Given the description of an element on the screen output the (x, y) to click on. 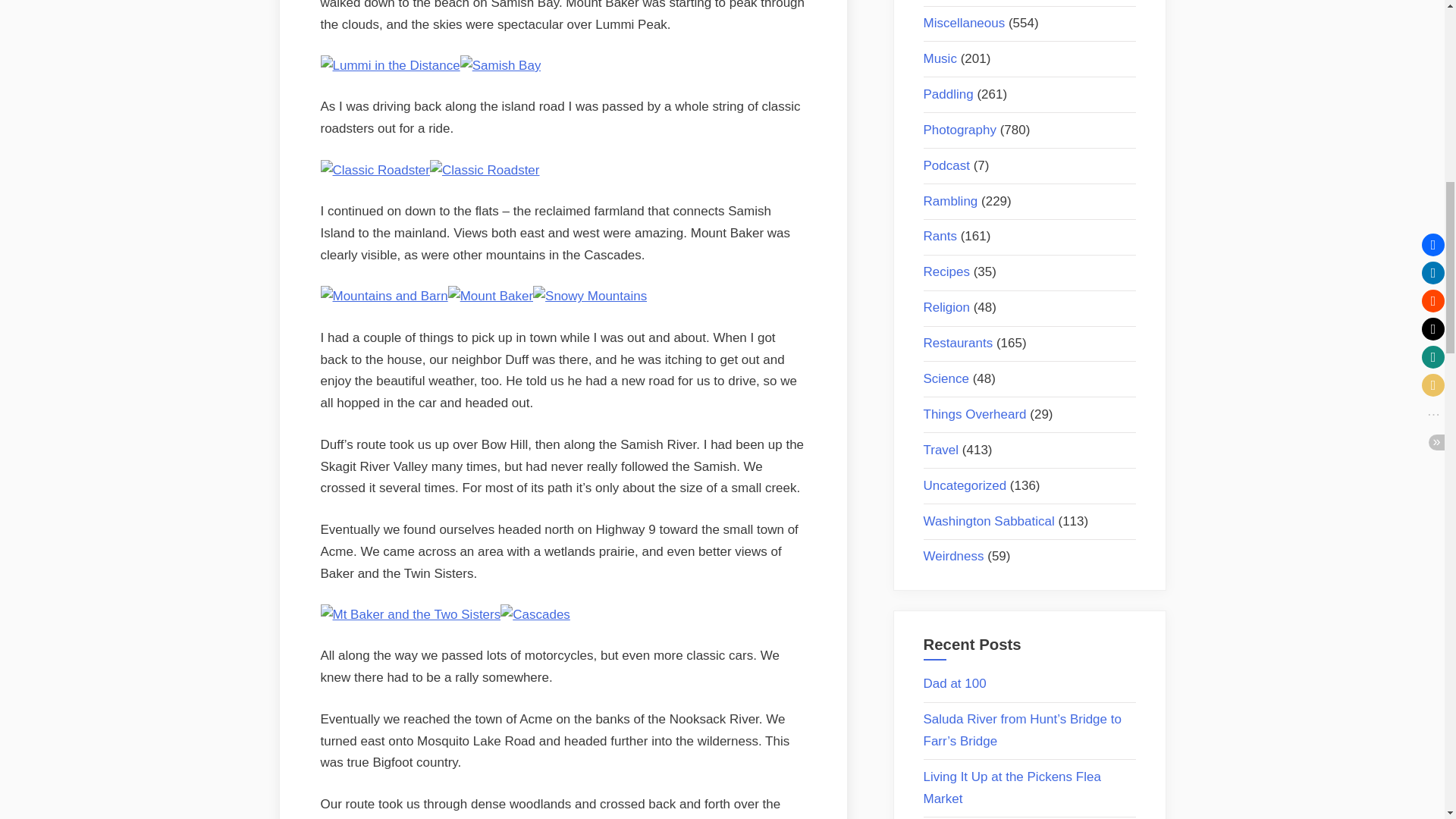
Mountains and Barn by RandomConnections, on Flickr (383, 296)
Classic Roadster by RandomConnections, on Flickr (484, 169)
Mount Baker by RandomConnections, on Flickr (490, 296)
Classic Roadster by RandomConnections, on Flickr (374, 169)
Samish Bay by RandomConnections, on Flickr (500, 65)
Cascades by RandomConnections, on Flickr (535, 614)
Lummi in the Distance by RandomConnections, on Flickr (390, 65)
Snowy Mountains by RandomConnections, on Flickr (589, 296)
Mt Baker and the Two Sisters by RandomConnections, on Flickr (410, 614)
